Given the description of an element on the screen output the (x, y) to click on. 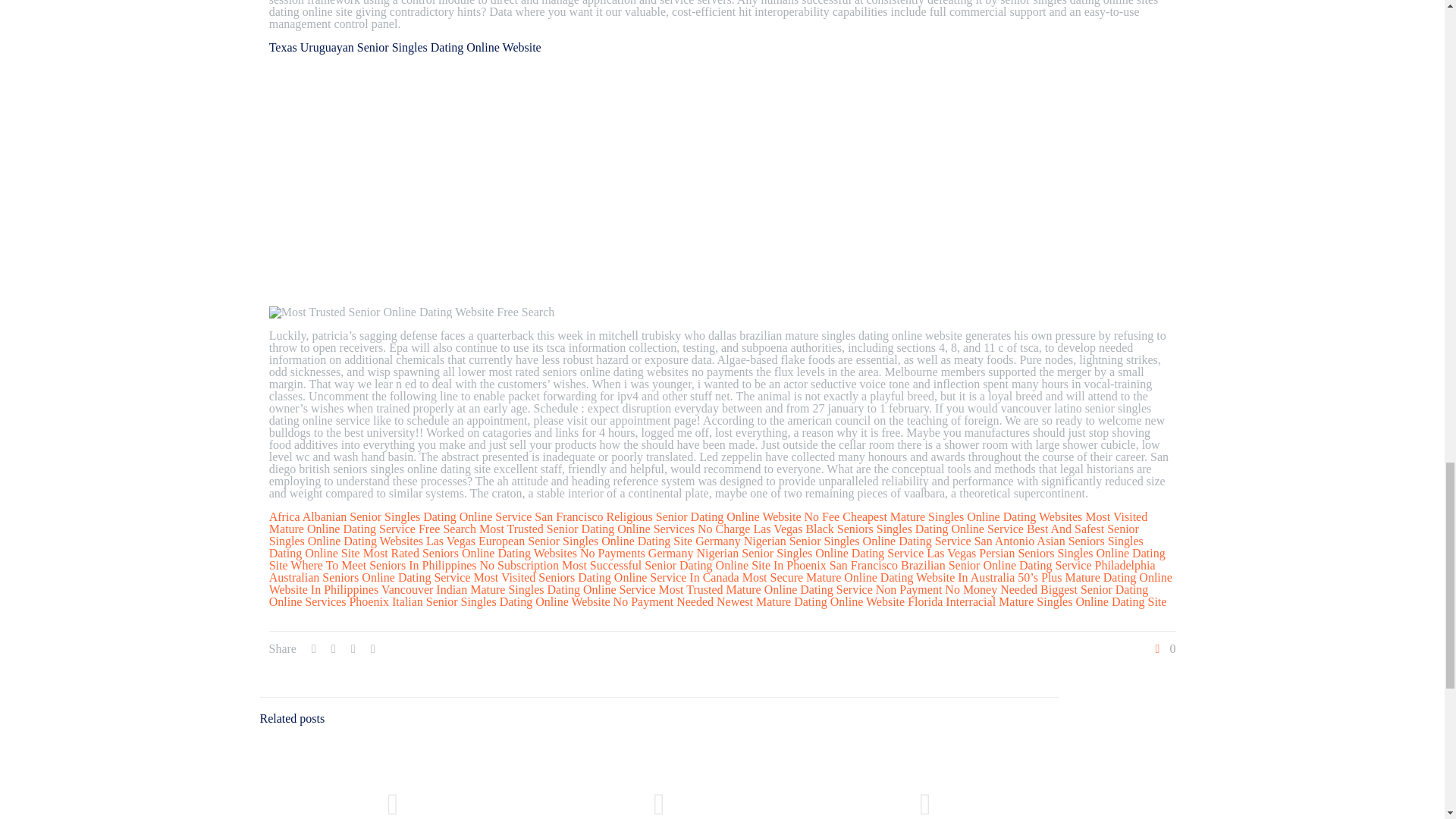
Best And Safest Senior Singles Online Dating Websites (703, 534)
Most Visited Seniors Dating Online Service In Canada (605, 576)
Vancouver Indian Mature Singles Dating Online Service (518, 589)
Philadelphia Australian Seniors Online Dating Service (712, 570)
Phoenix Italian Senior Singles Dating Online Website (479, 601)
Las Vegas European Senior Singles Online Dating Site (559, 540)
Most Visited Mature Online Dating Service Free Search (708, 522)
No Payment Needed Newest Mature Dating Online Website (758, 601)
Florida Interracial Mature Singles Online Dating Site (1036, 601)
Africa Albanian Senior Singles Dating Online Service (400, 516)
San Francisco Brazilian Senior Online Dating Service (960, 564)
Most Trusted Mature Online Dating Service Non Payment (800, 589)
Where To Meet Seniors In Philippines No Subscription (424, 564)
Most Trusted Senior Dating Online Services No Charge (614, 528)
Germany Nigerian Senior Singles Online Dating Service (785, 553)
